Given the description of an element on the screen output the (x, y) to click on. 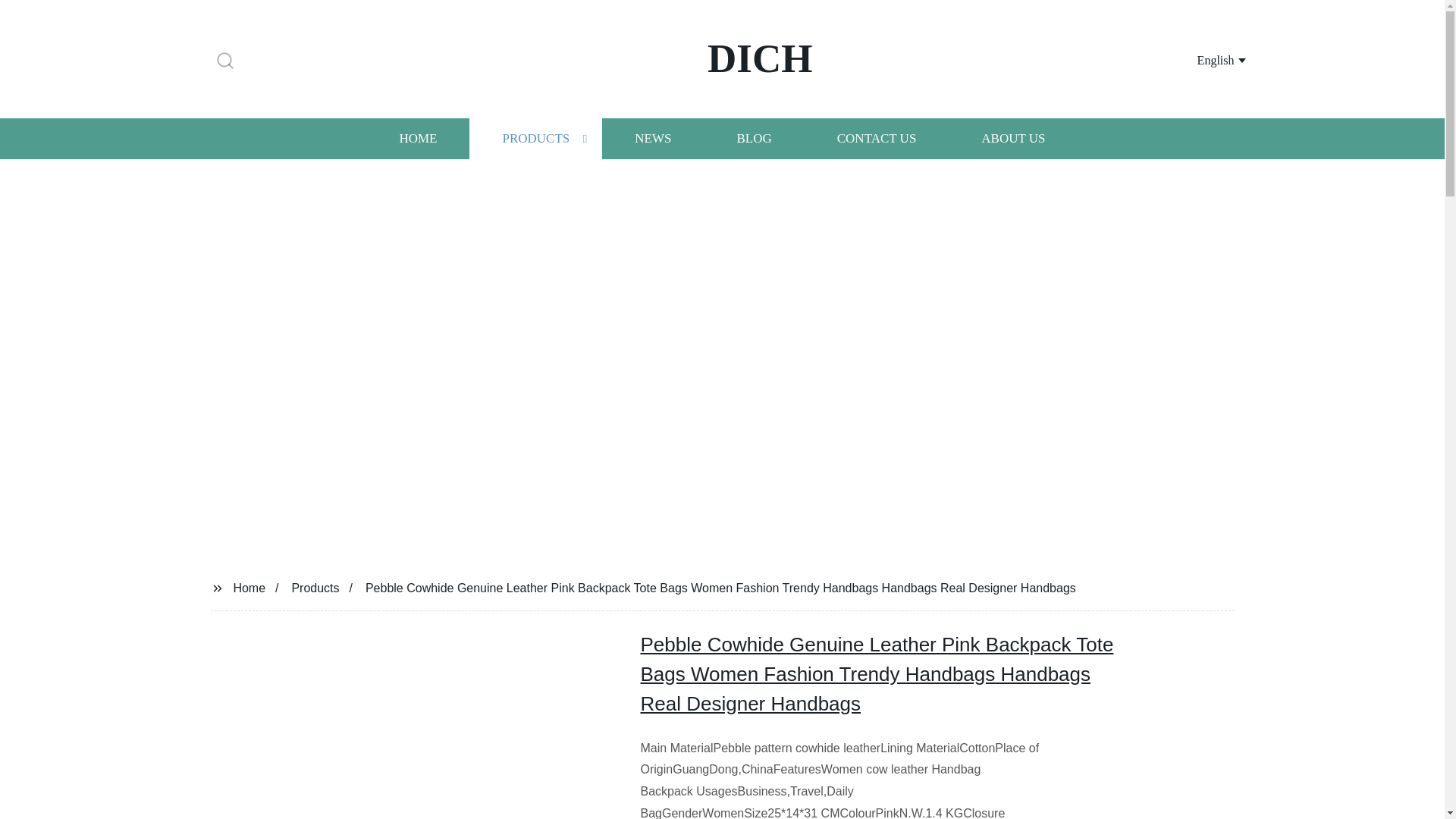
English (1203, 59)
NEWS (652, 137)
Home (248, 586)
HOME (417, 137)
ABOUT US (1013, 137)
PRODUCTS (535, 137)
BLOG (753, 137)
CONTACT US (877, 137)
English (1203, 59)
Products (315, 586)
